Given the description of an element on the screen output the (x, y) to click on. 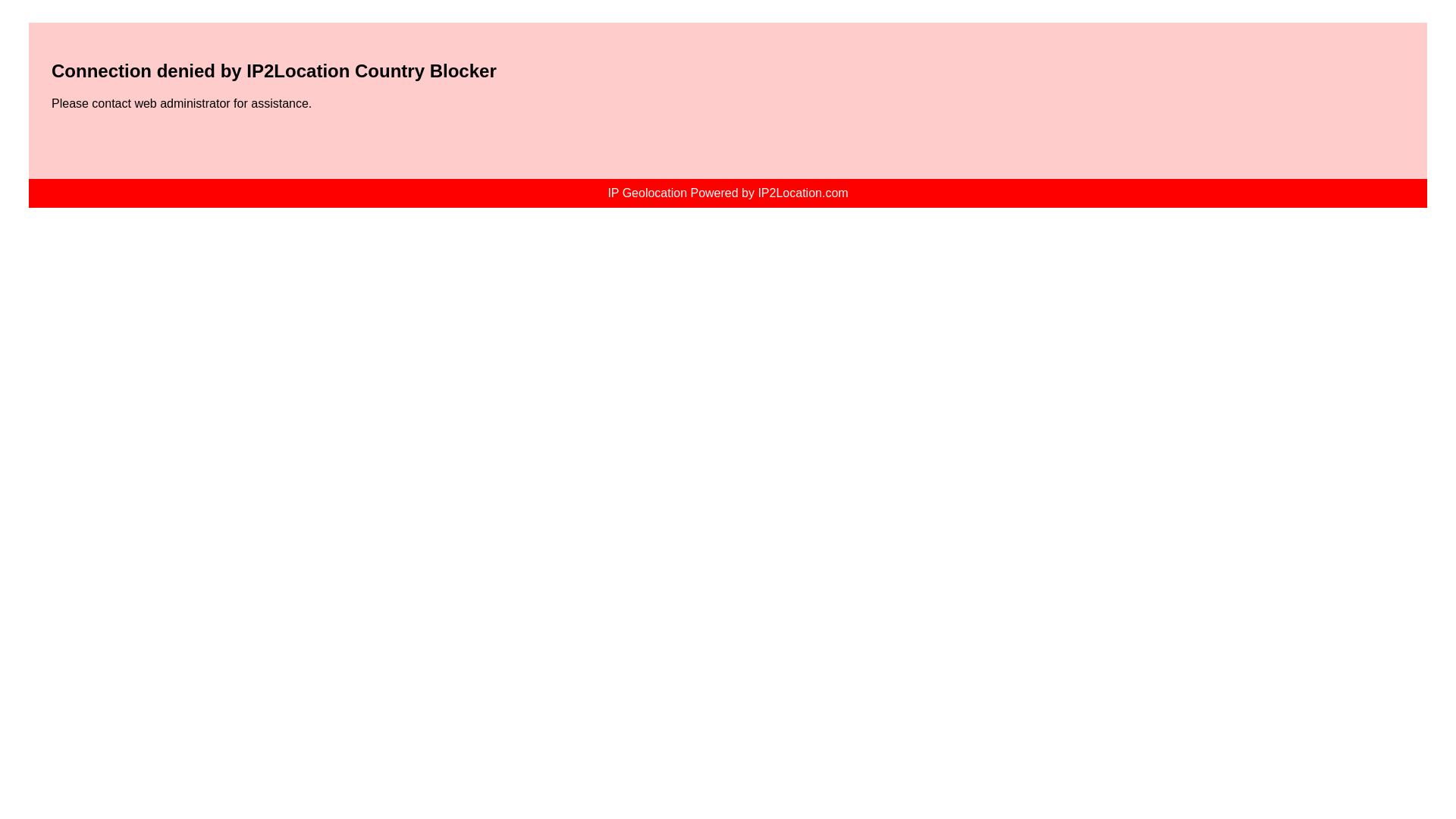
IP Geolocation Powered by IP2Location.com (727, 192)
